Given the description of an element on the screen output the (x, y) to click on. 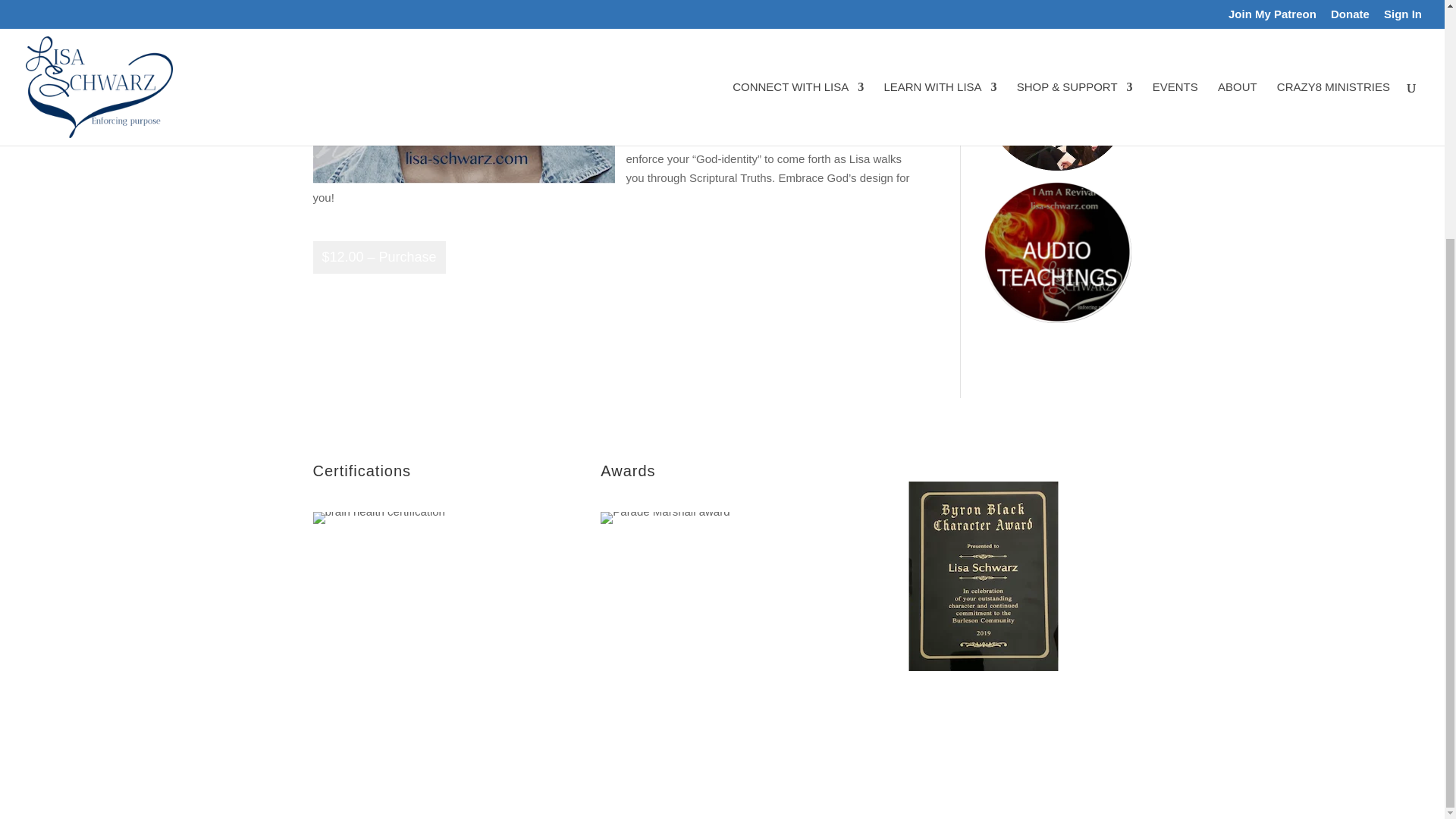
Privacy Policy (670, 726)
Contact Lisa (591, 726)
Podcast (477, 726)
BHCCC Logo Badge (378, 517)
award (664, 517)
Home (326, 726)
Newsletter Signup (355, 749)
Events (528, 726)
character award copy (983, 575)
Blog (430, 726)
